Given the description of an element on the screen output the (x, y) to click on. 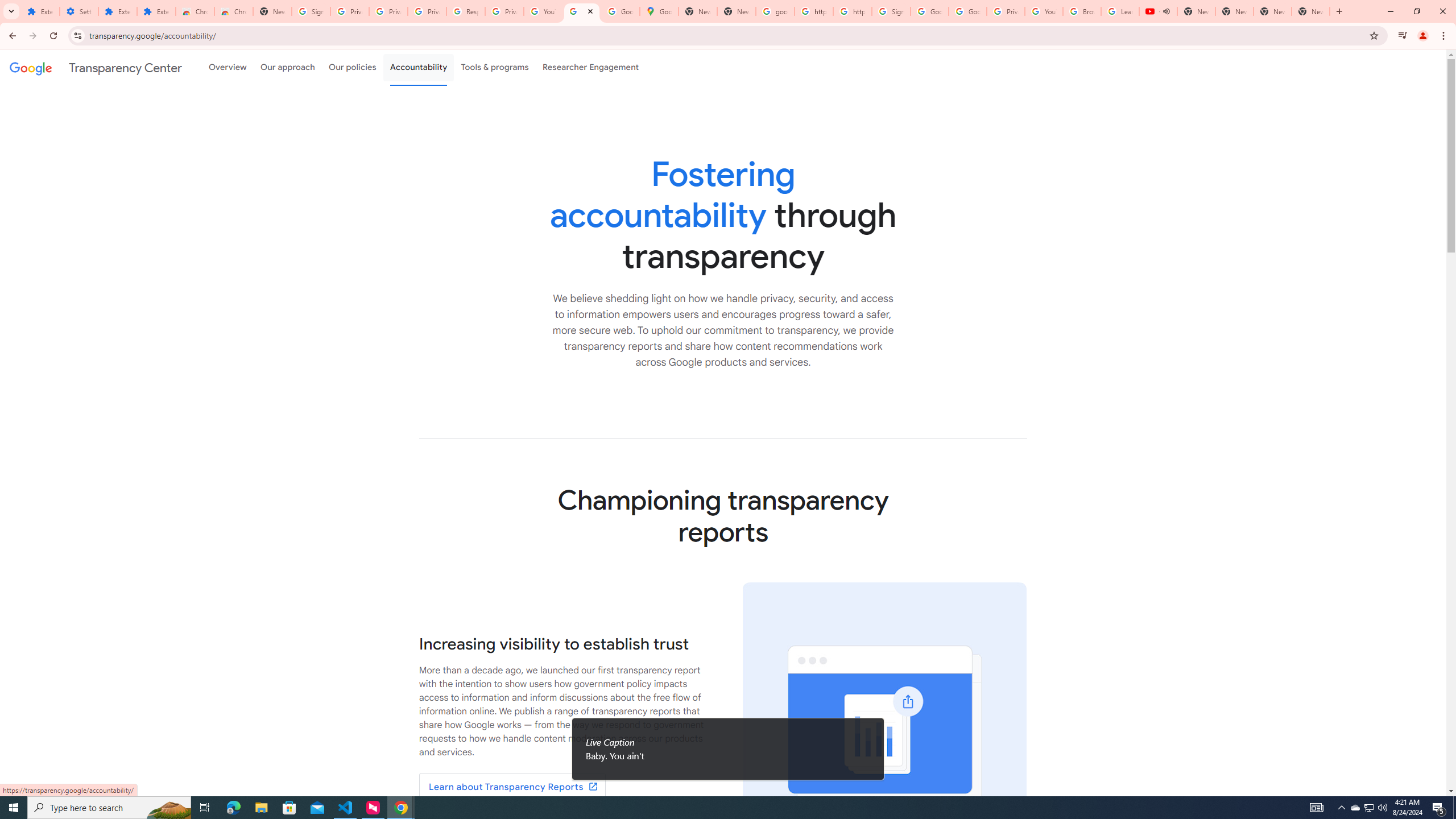
Transparency Center (95, 67)
Researcher Engagement (590, 67)
Sign in - Google Accounts (890, 11)
New Tab (272, 11)
Our approach (287, 67)
Policy Accountability and Transparency - Transparency Center (581, 11)
Accountability (418, 67)
